Given the description of an element on the screen output the (x, y) to click on. 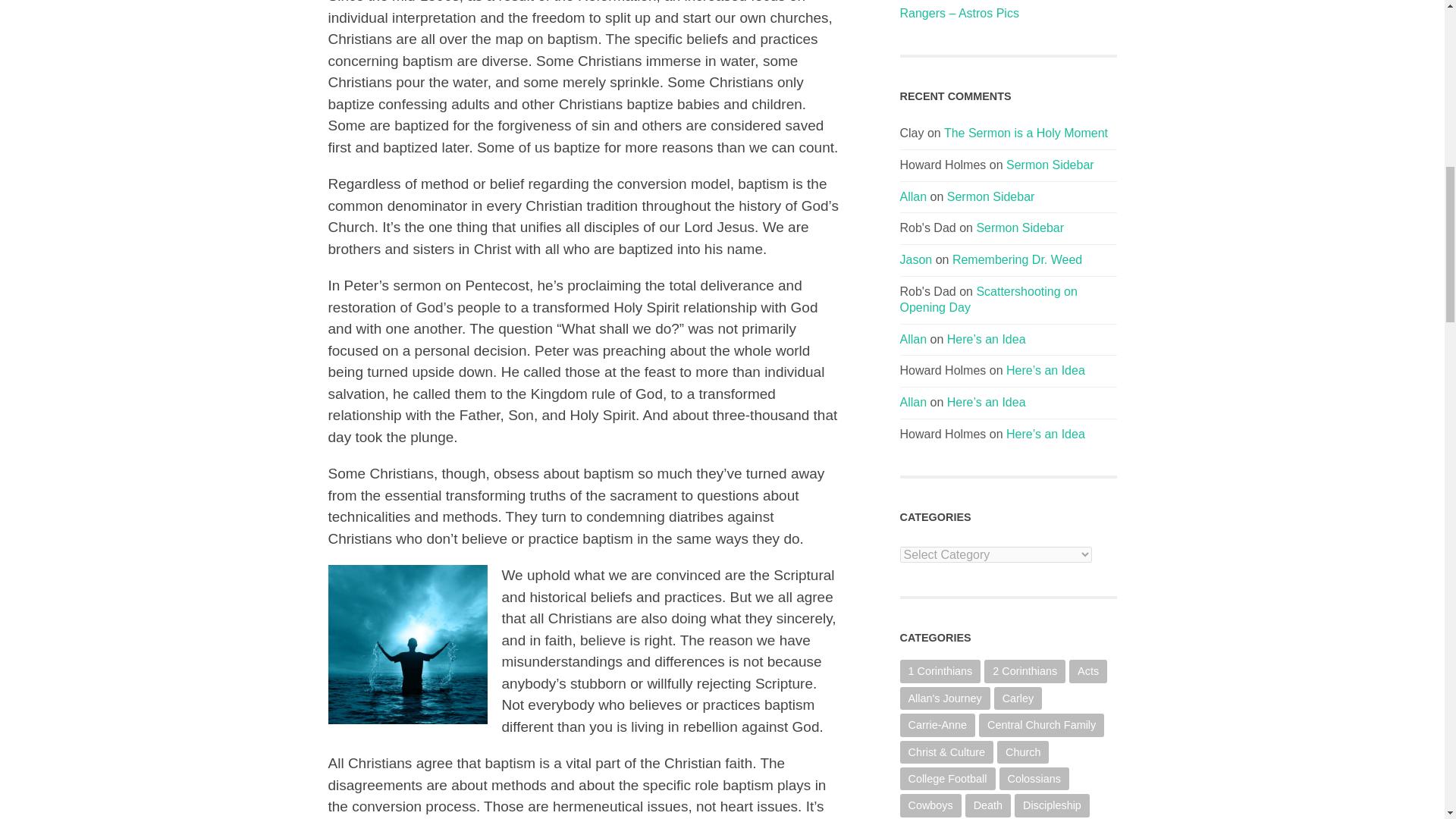
Sermon Sidebar (991, 196)
Scattershooting on Opening Day (988, 299)
Allan (912, 196)
The Sermon is a Holy Moment (1025, 132)
Sermon Sidebar (1019, 227)
Remembering Dr. Weed (1016, 259)
Allan (912, 338)
Sermon Sidebar (1050, 164)
Jason (915, 259)
